Given the description of an element on the screen output the (x, y) to click on. 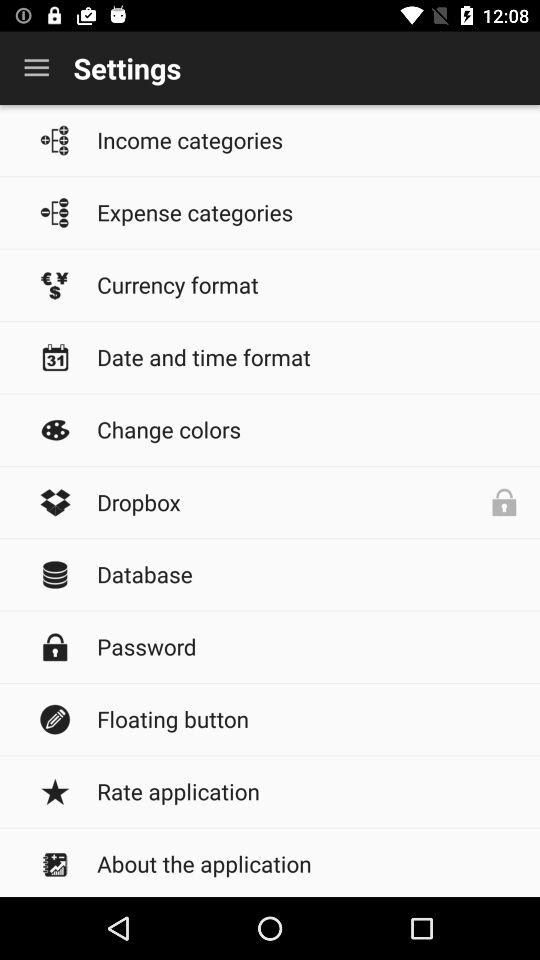
flip until the change colors item (308, 429)
